Given the description of an element on the screen output the (x, y) to click on. 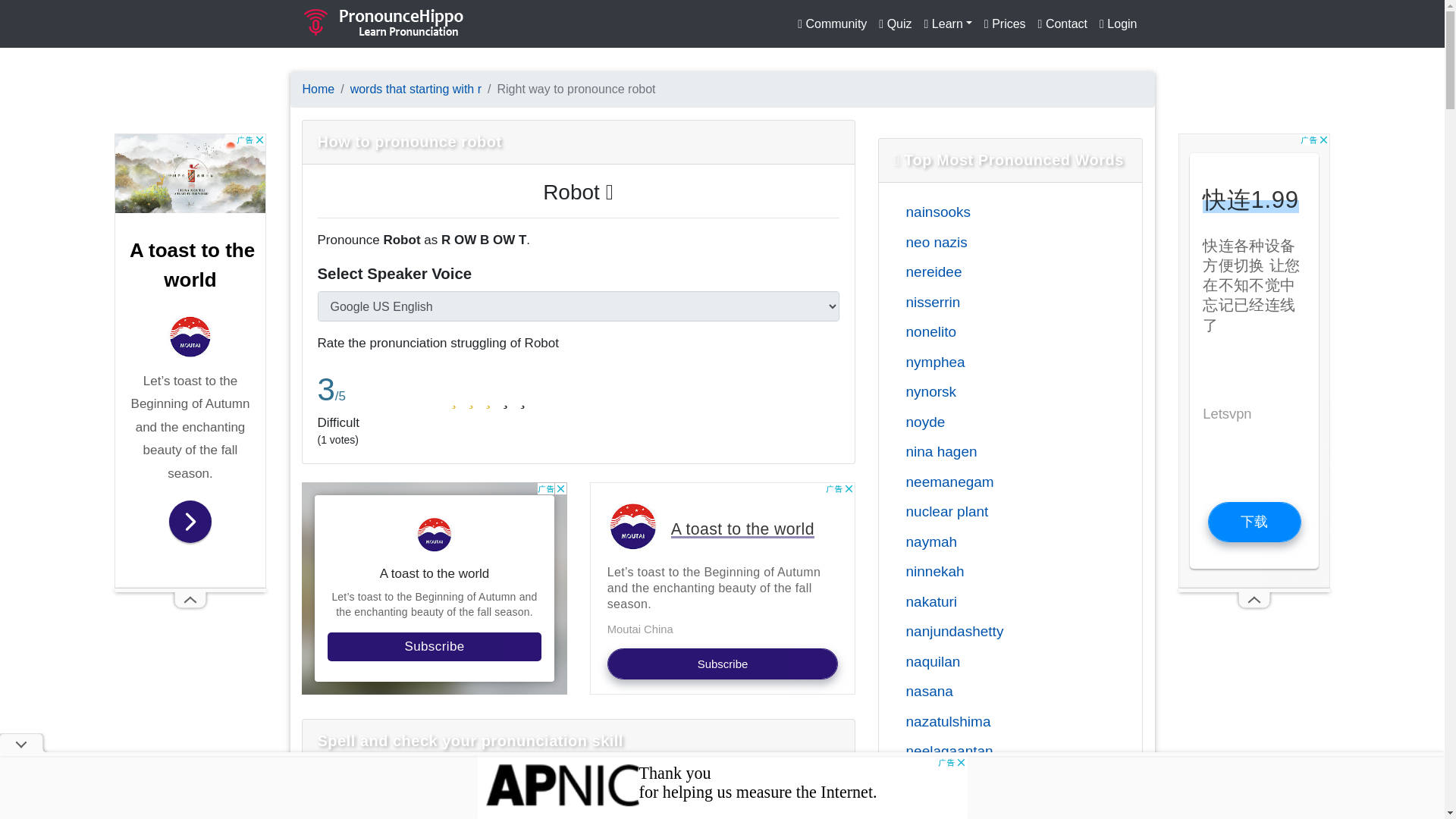
Pronounce words that starting with r (415, 89)
PronounceHippo.Com (384, 23)
Advertisement (434, 588)
Pronouncehippo Home Page (317, 89)
Quiz (894, 24)
words that starting with r (415, 89)
Contact (1062, 24)
Prices (1005, 24)
Learn (948, 24)
Advertisement (722, 588)
